Given the description of an element on the screen output the (x, y) to click on. 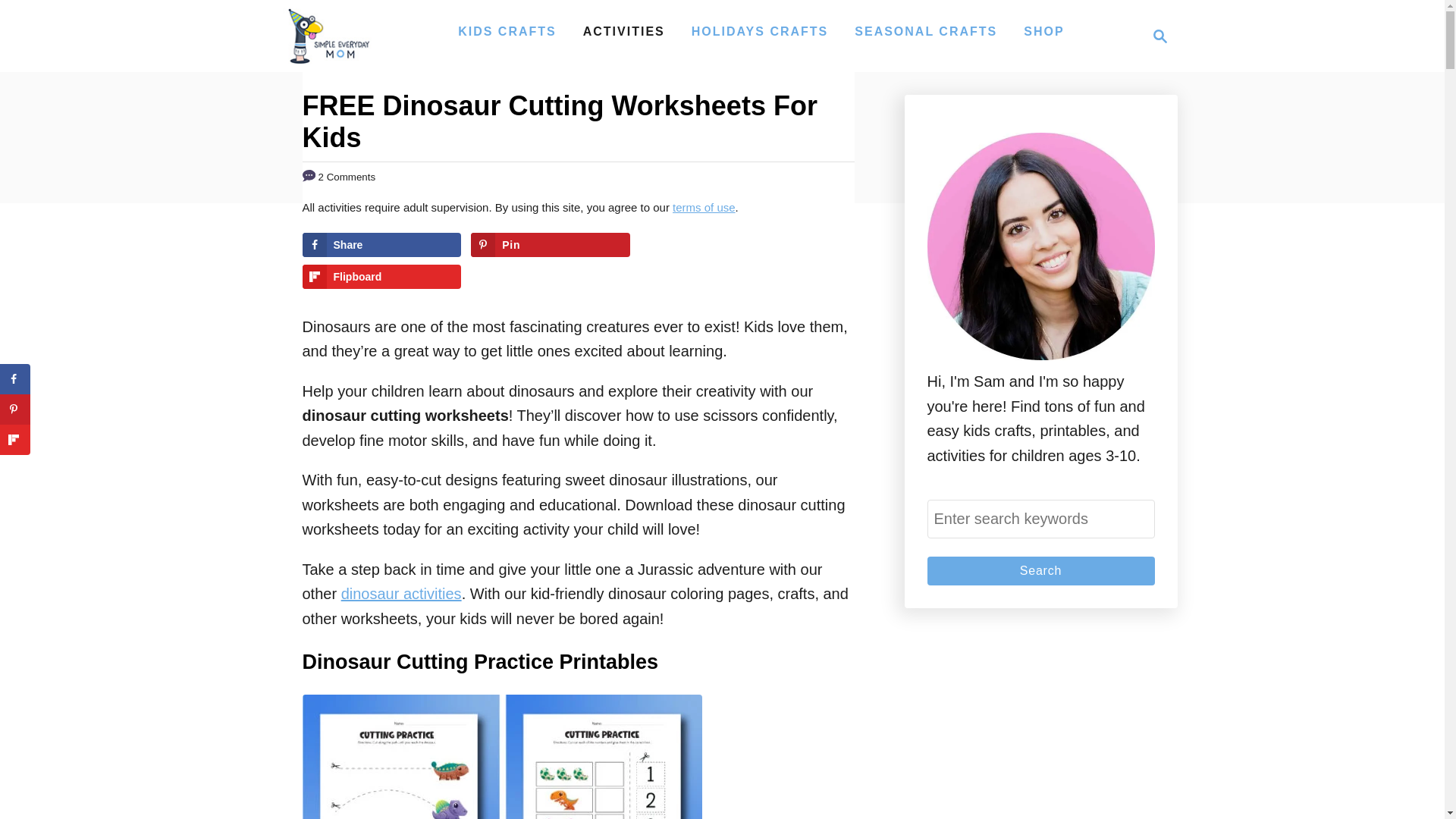
Simple Everyday Mom (328, 35)
Search (1040, 570)
Save to Pinterest (550, 244)
KIDS CRAFTS (506, 31)
Share on Facebook (381, 244)
Search (1040, 570)
ACTIVITIES (1155, 36)
Share on Flipboard (623, 31)
Magnifying Glass (381, 276)
